Given the description of an element on the screen output the (x, y) to click on. 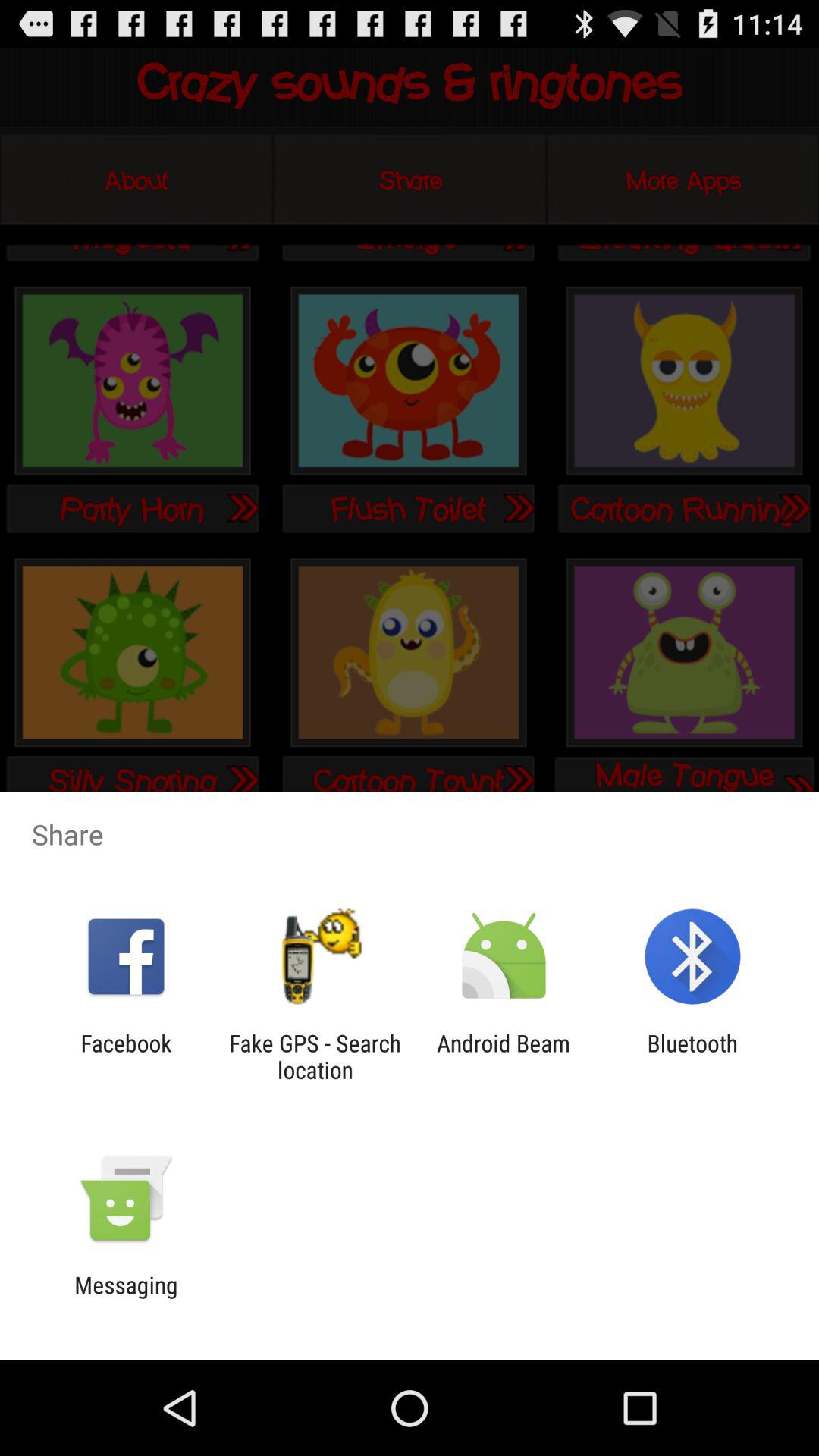
choose the bluetooth app (692, 1056)
